Given the description of an element on the screen output the (x, y) to click on. 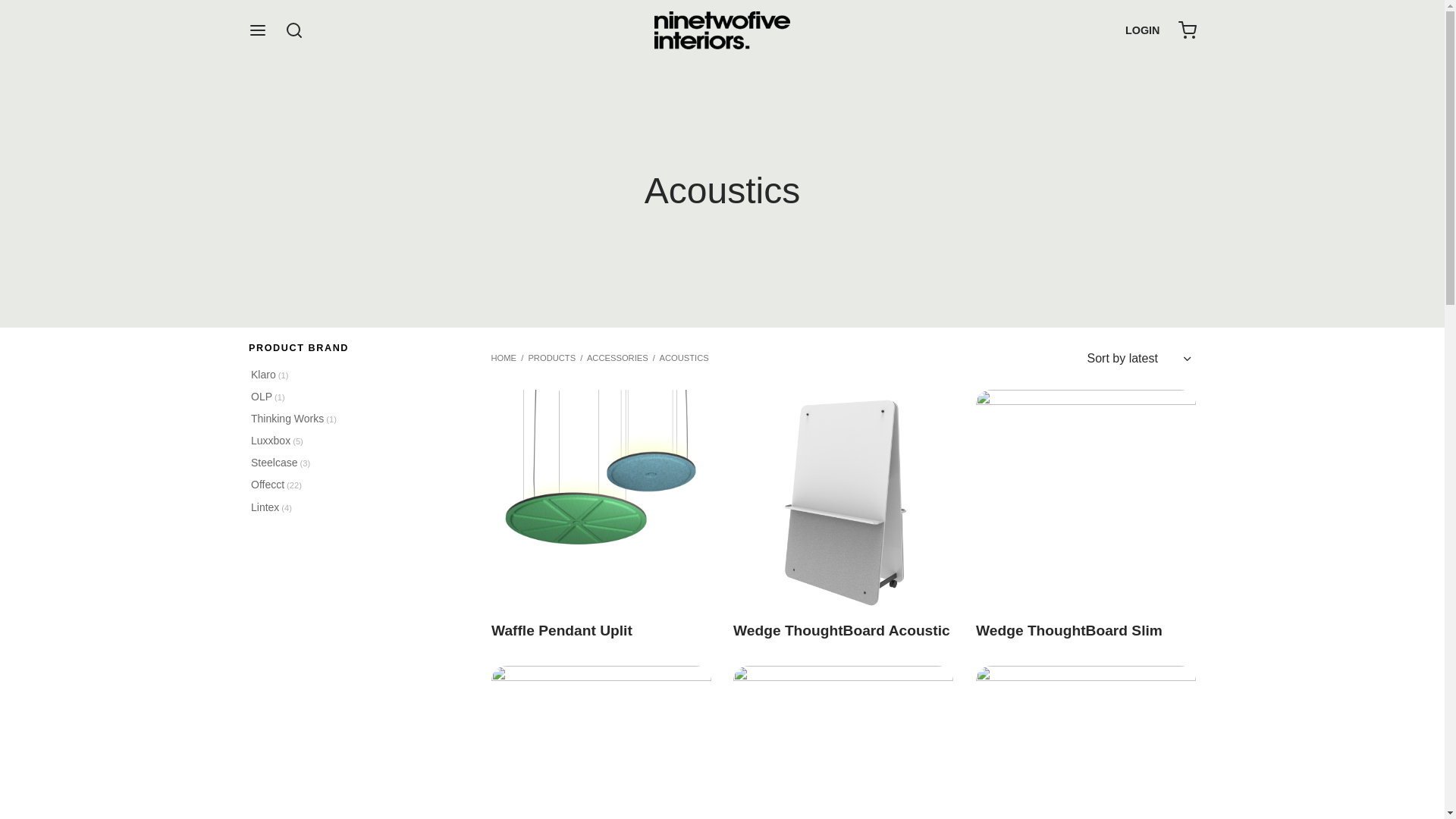
HOME Element type: text (504, 357)
Wedge ThoughtBoard Acoustic Element type: hover (843, 499)
Wedge ThoughtBoard Slim Element type: text (1068, 630)
Cart Element type: hover (1187, 30)
Waffle Pendant Uplit Element type: hover (601, 499)
Wedge ThoughtBoard Slim Element type: hover (1085, 499)
Search Element type: text (30, 18)
LOGIN Element type: text (1142, 30)
PRODUCTS Element type: text (551, 357)
Wedge ThoughtBoard Acoustic Element type: text (841, 630)
Waffle Pendant Uplit Element type: text (561, 630)
ACCESSORIES Element type: text (617, 357)
